Given the description of an element on the screen output the (x, y) to click on. 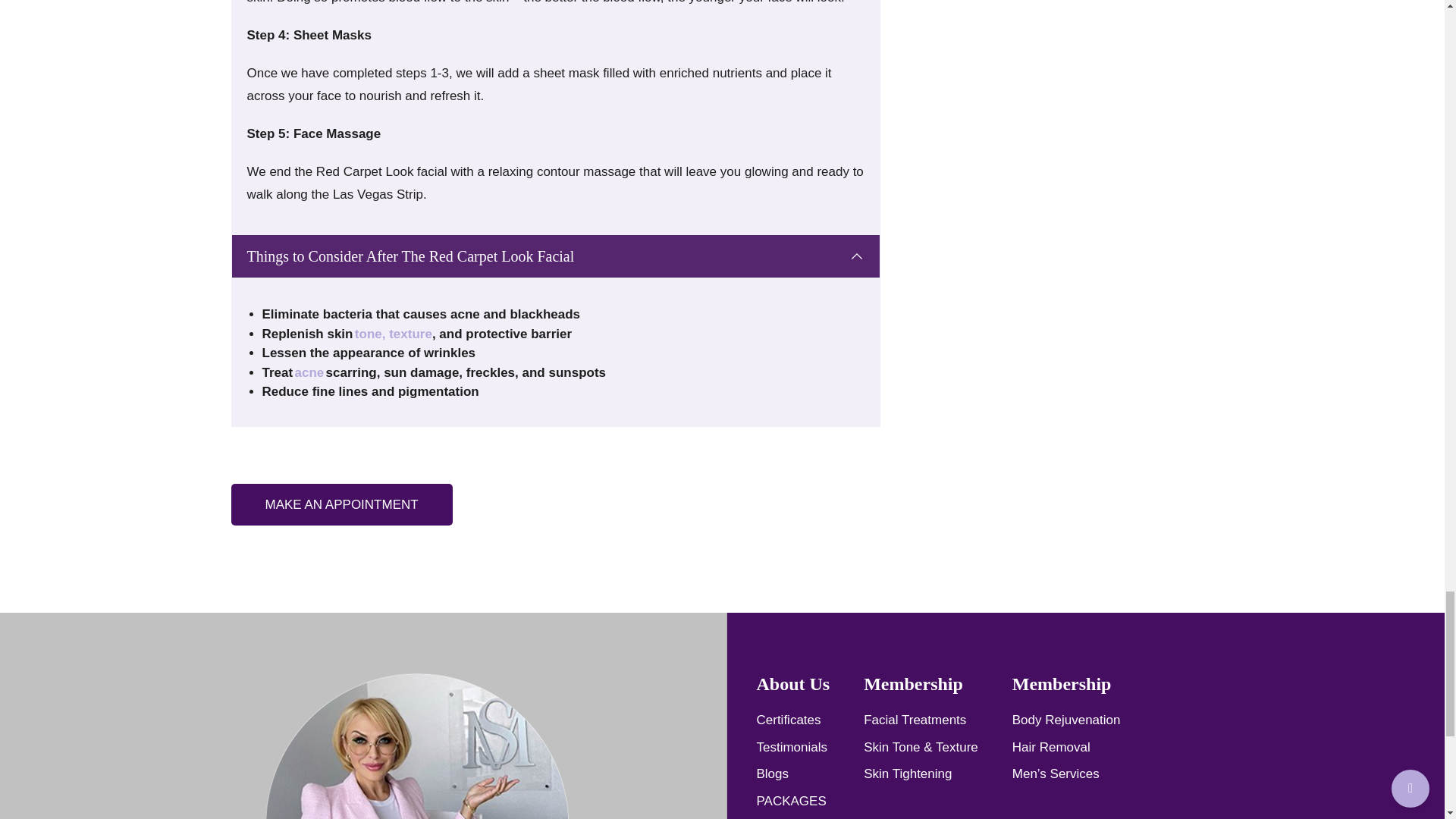
tone, texture (393, 333)
Things to Consider After The Red Carpet Look Facial (555, 256)
acne (308, 372)
MAKE AN APPOINTMENT (340, 505)
